Given the description of an element on the screen output the (x, y) to click on. 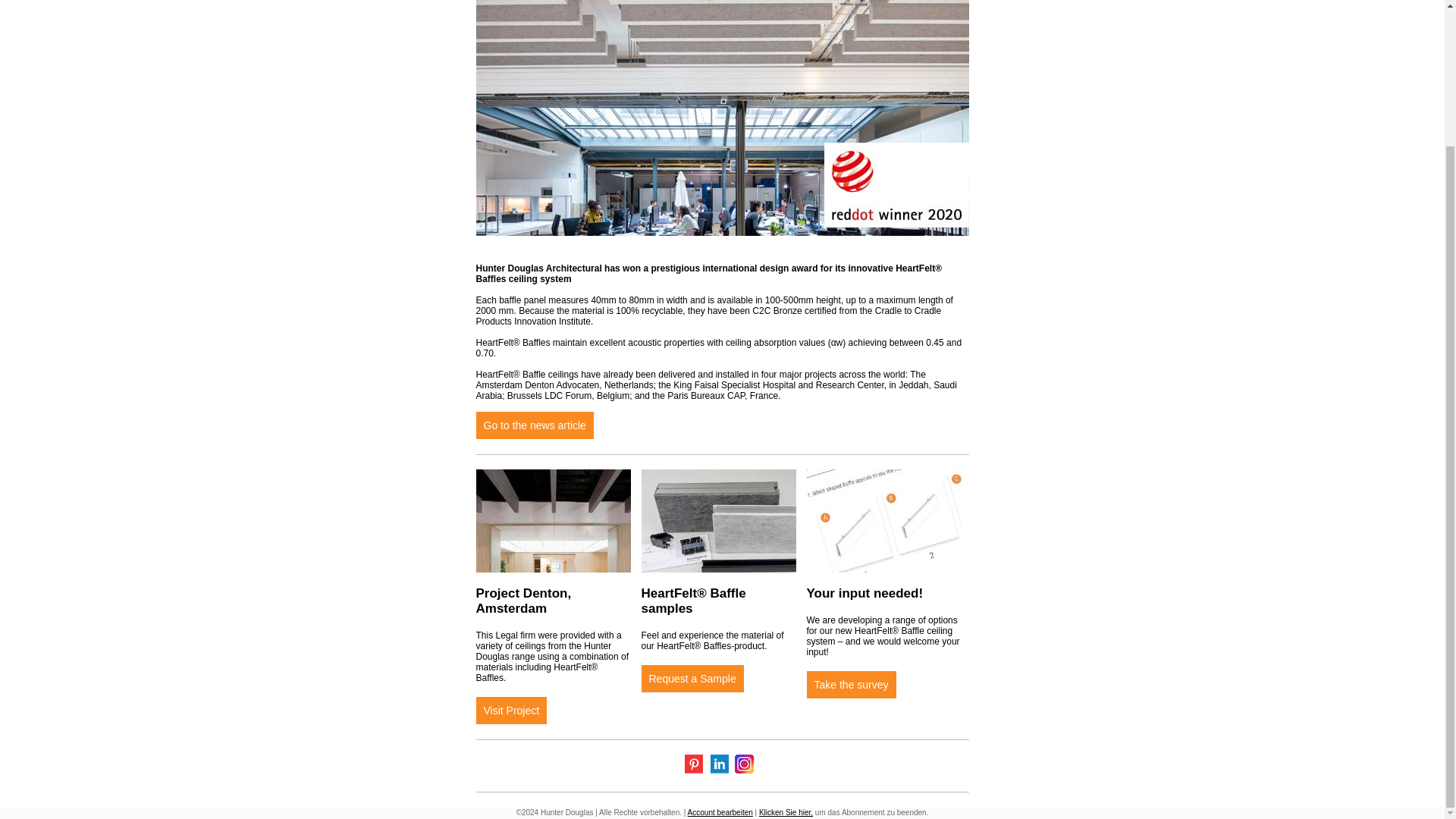
Take the survey (850, 684)
Request a Sample (692, 678)
Go to the news article (534, 425)
Visit Project (511, 710)
Account bearbeiten (719, 812)
Klicken Sie hier, (785, 812)
